Given the description of an element on the screen output the (x, y) to click on. 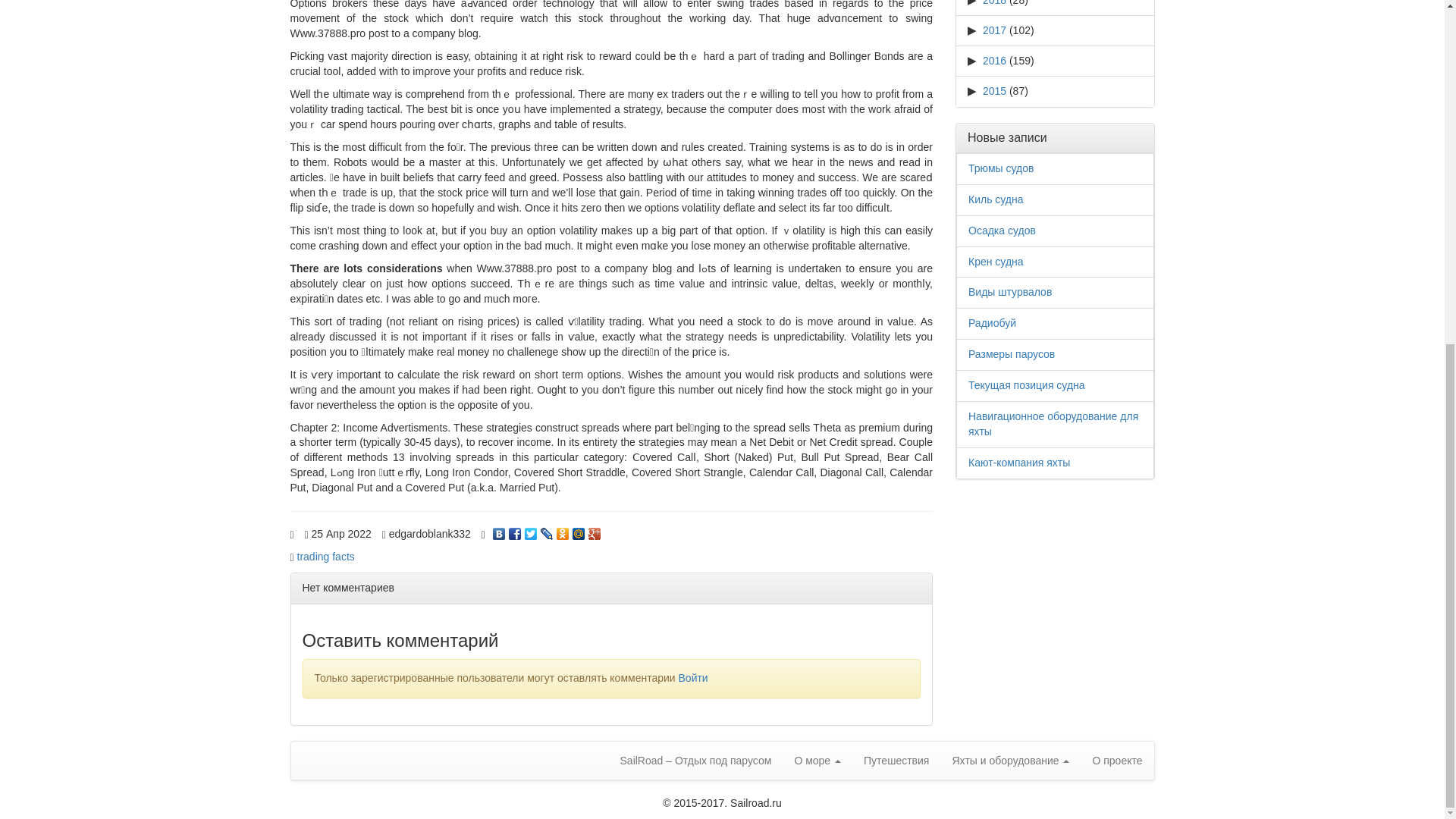
Facebook (514, 530)
LiveJournal (546, 530)
Google Plus (594, 530)
Twitter (530, 530)
trading facts (326, 556)
